Given the description of an element on the screen output the (x, y) to click on. 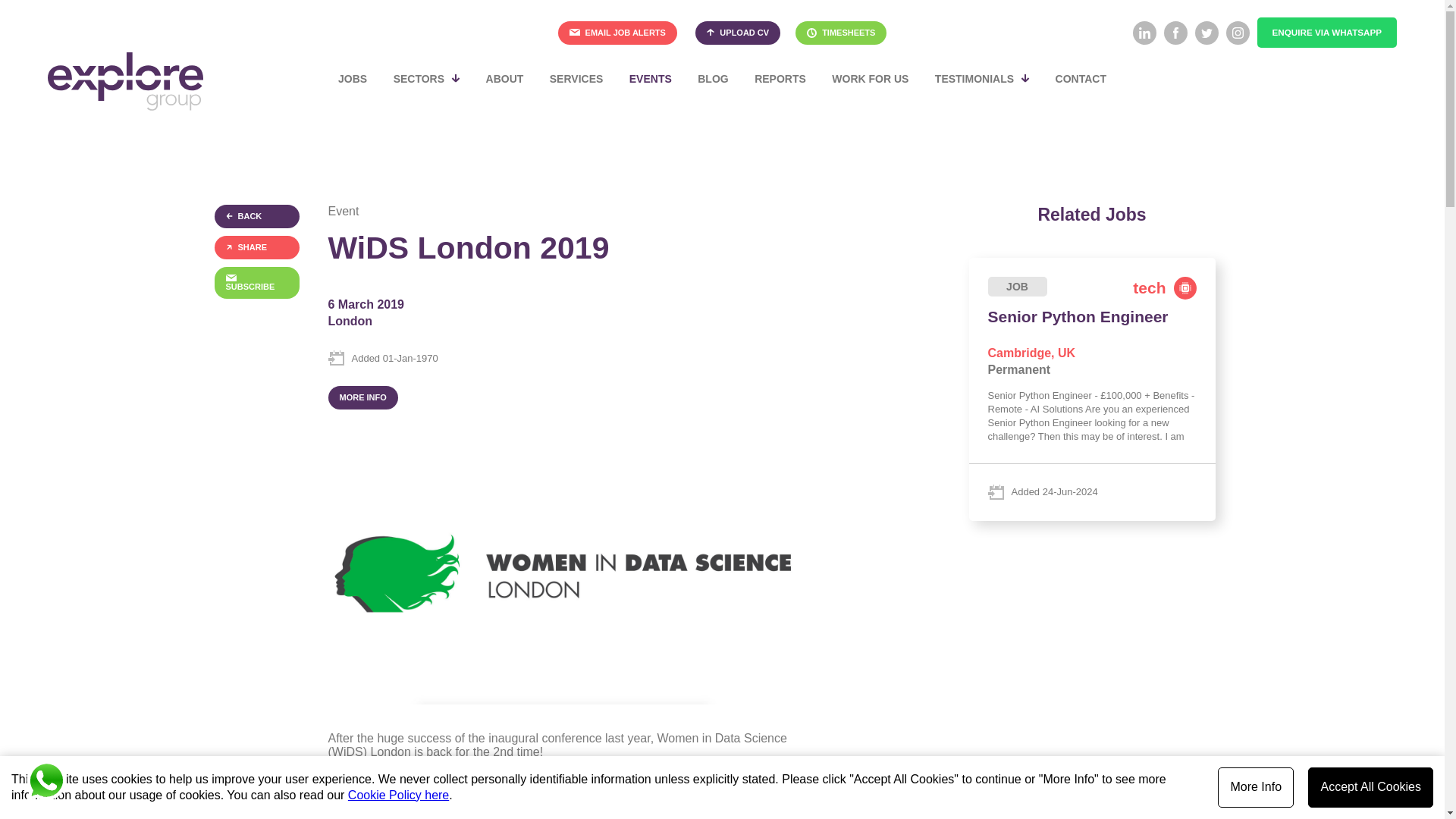
ENQUIRE VIA WHATSAPP (1326, 32)
BUTTON-ICON-ARROW-LEFT (228, 216)
TIMESHEETS (840, 31)
BLOG (712, 79)
WORK FOR US (870, 79)
Cookie Policy (397, 794)
ABOUT (504, 79)
EMAIL JOB ALERTS (617, 33)
BUTTON-ICON-ARROW-DIAGONAL (228, 246)
Senior Python Engineer (1092, 388)
SECTORS (425, 79)
JOBS (352, 79)
SERVICES (576, 79)
EVENTS (649, 79)
REPORTS (779, 79)
